Given the description of an element on the screen output the (x, y) to click on. 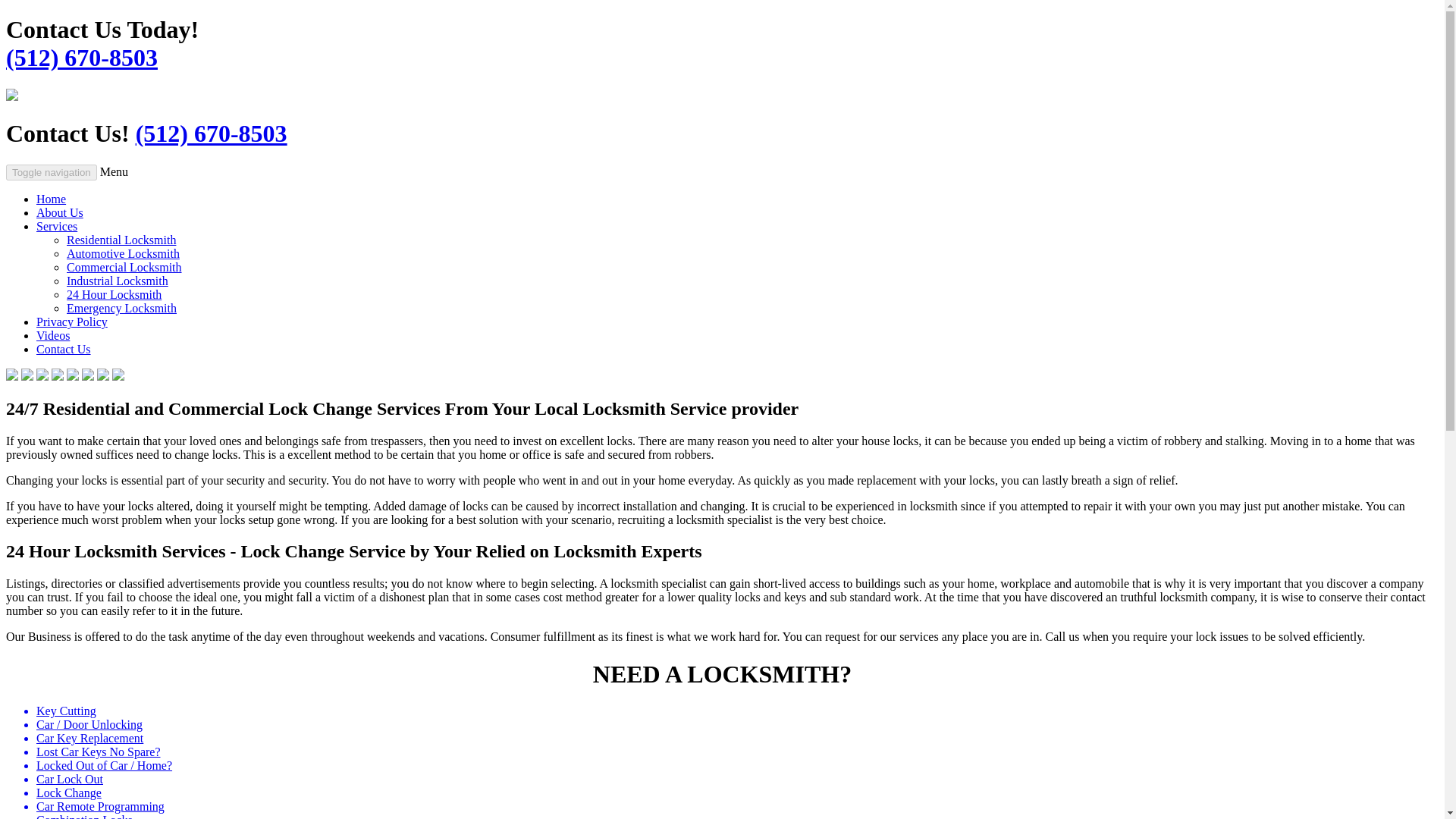
Residential Locksmith (121, 239)
Facebook (11, 376)
Pinterest (72, 376)
Emergency Locksmith (121, 308)
Youtube (57, 376)
LinkedIn (103, 376)
Google Plus (87, 376)
Toggle navigation (51, 172)
Contact Us (63, 349)
Industrial Locksmith (117, 280)
